Given the description of an element on the screen output the (x, y) to click on. 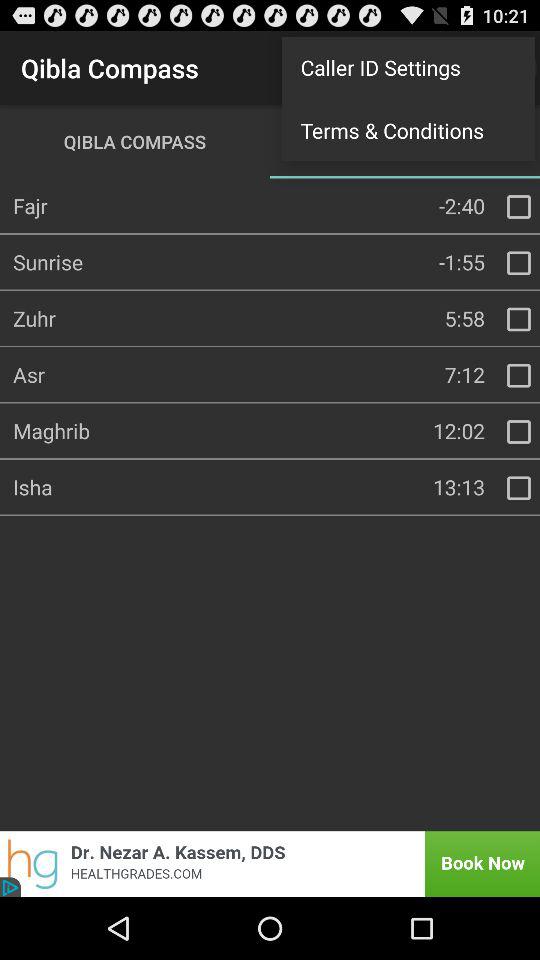
select fajr (519, 207)
